Given the description of an element on the screen output the (x, y) to click on. 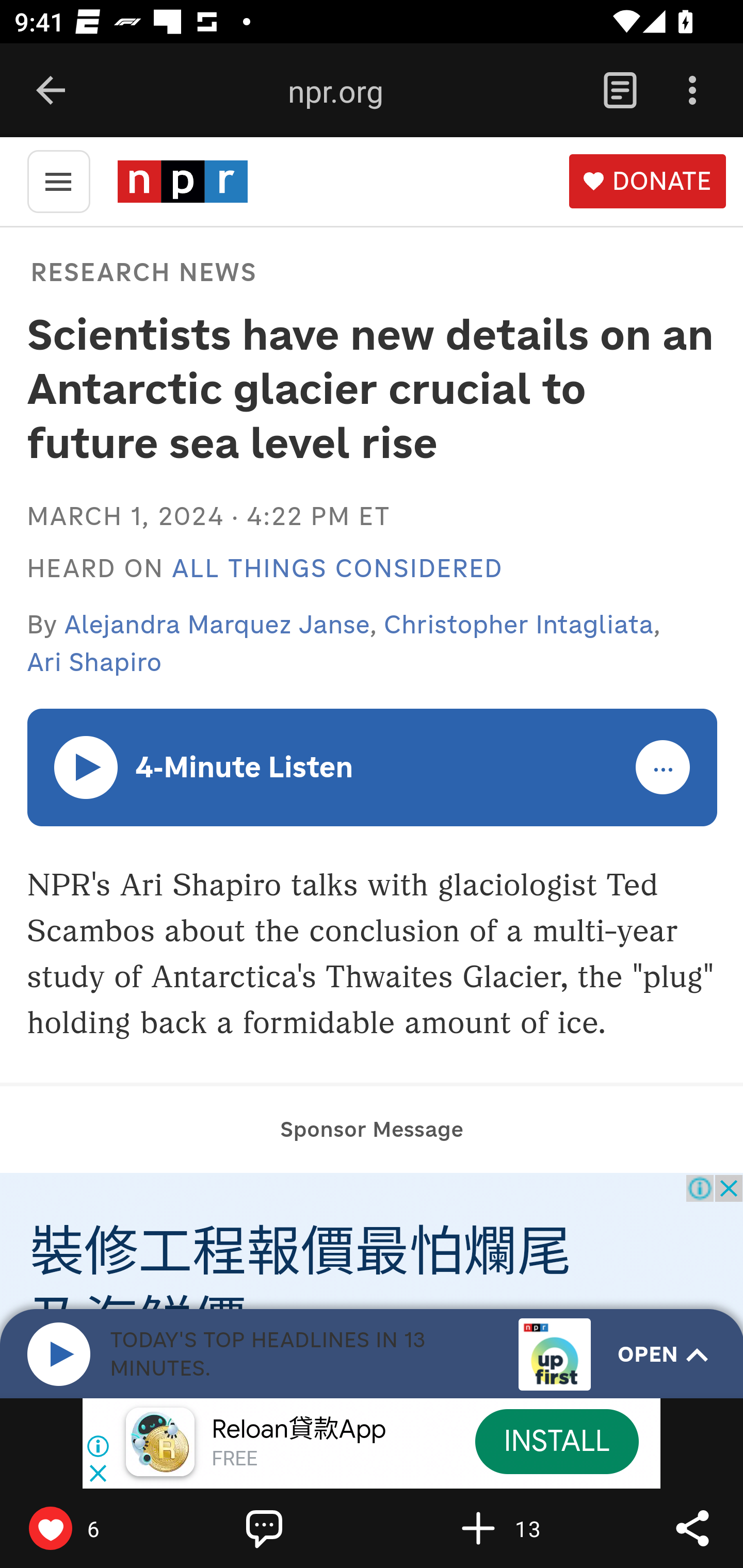
Back (50, 90)
Reader View (619, 90)
Options (692, 90)
Open Navigation Menu (58, 180)
DONATE (646, 181)
NPR logo (181, 180)
RESEARCH NEWS (142, 271)
MARCH 1, 2024 · 4:22 PM ET (208, 515)
ALL THINGS CONSIDERED (337, 568)
Alejandra Marquez Janse (217, 623)
Christopher Intagliata (518, 623)
Ari Shapiro (93, 662)
LISTEN· 4:24 (86, 766)
Toggle more options (663, 768)
INSTALL (556, 1441)
Reloan貸款App (298, 1429)
FREE (234, 1459)
Like 6 (93, 1528)
Write a comment… (307, 1528)
Flip into Magazine 13 (521, 1528)
Share (692, 1528)
